Given the description of an element on the screen output the (x, y) to click on. 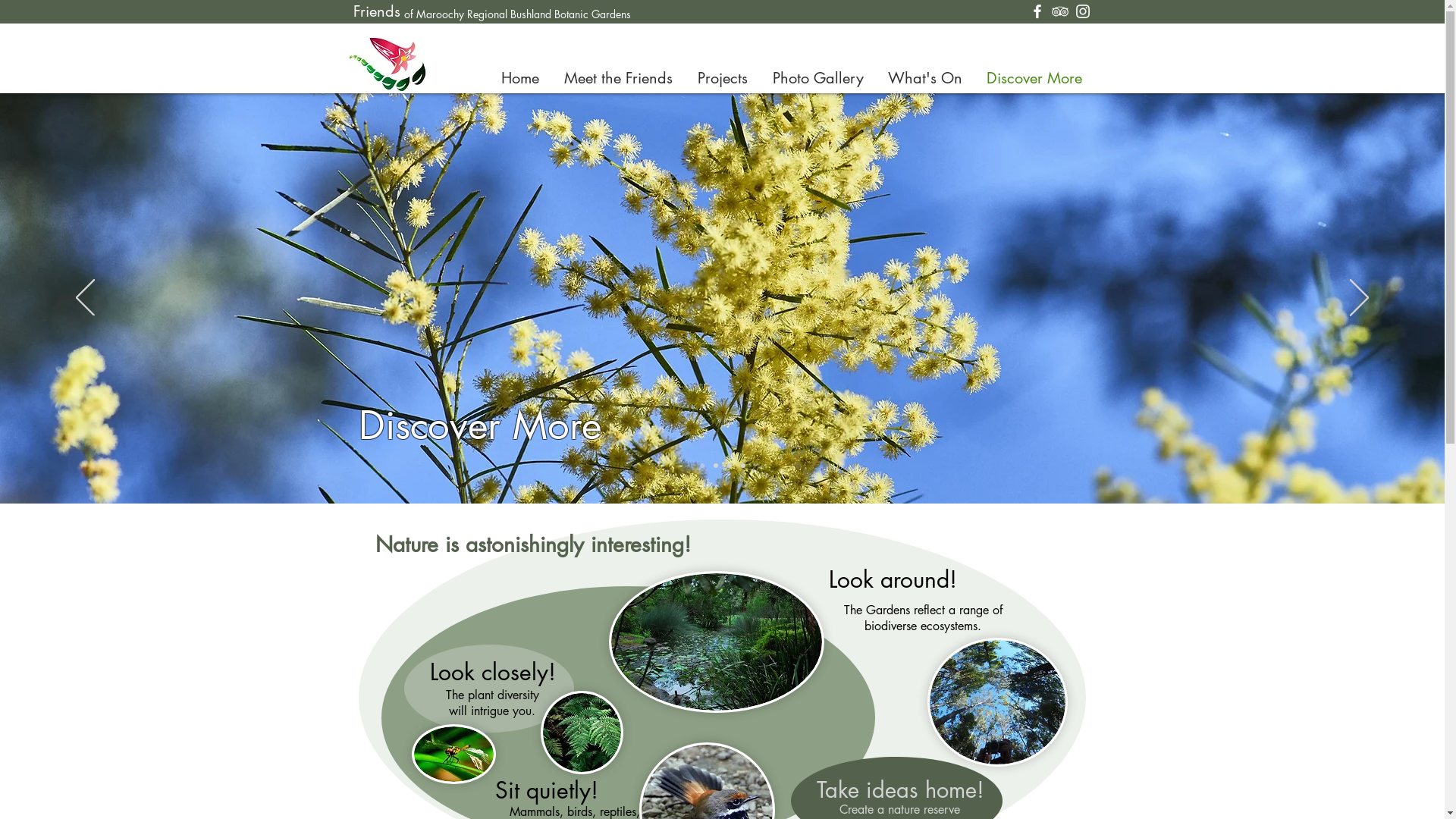
Home Element type: text (519, 77)
Discover More Element type: text (1033, 77)
Meet the Friends Element type: text (618, 77)
What's On Element type: text (924, 77)
Click for Home Page Element type: hover (387, 63)
Projects Element type: text (722, 77)
Photo Gallery Element type: text (817, 77)
